Given the description of an element on the screen output the (x, y) to click on. 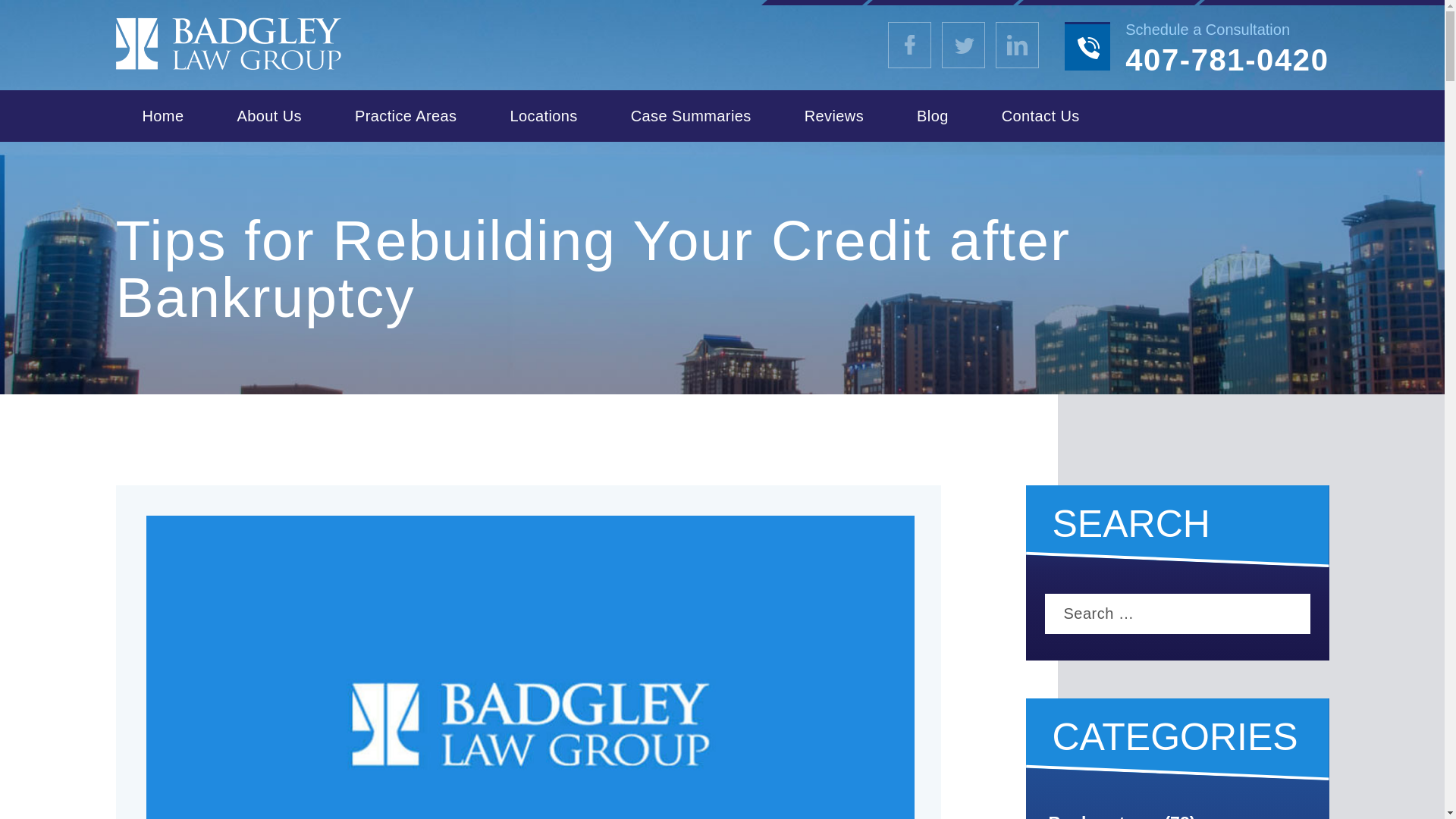
Follow on Facebook (909, 44)
Follow on Facebook (1017, 44)
Search (1289, 613)
Facebook (909, 44)
Home (162, 115)
Linkedin (1017, 44)
407-781-0420 (1226, 60)
About Us (268, 115)
Twitter (963, 44)
Practice Areas (406, 115)
